Given the description of an element on the screen output the (x, y) to click on. 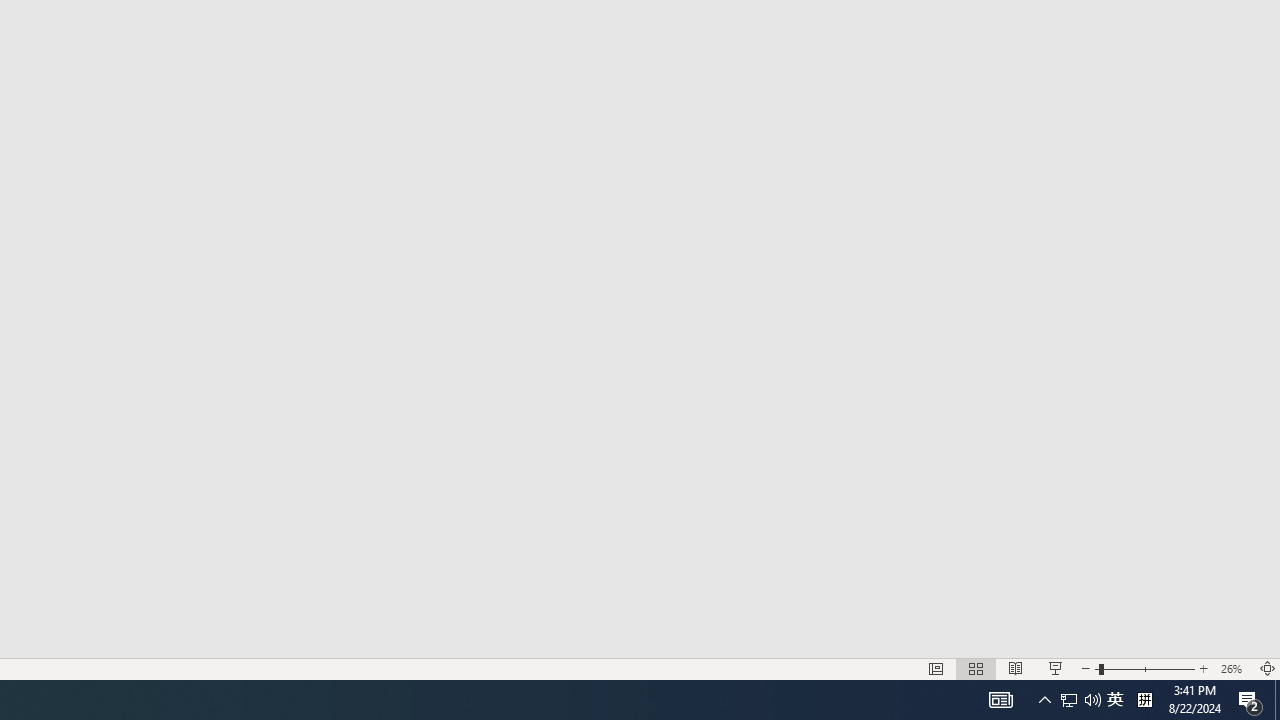
Zoom 26% (1234, 668)
Zoom Out (1096, 668)
Zoom In (1204, 668)
Zoom to Fit  (1267, 668)
